Given the description of an element on the screen output the (x, y) to click on. 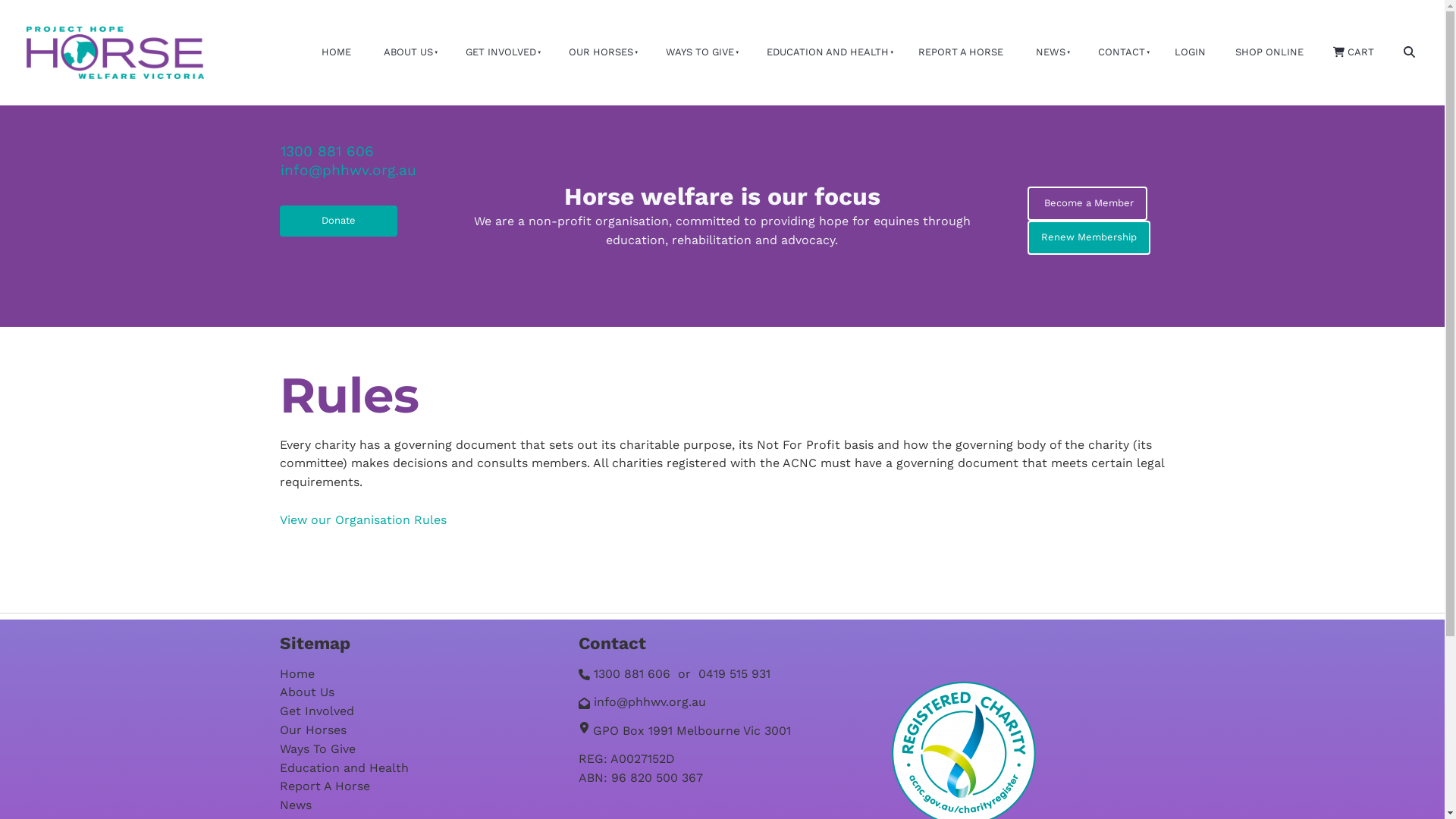
News Element type: text (294, 804)
GET INVOLVED Element type: text (498, 52)
1300 881 606  or  0419 515 931 Element type: text (681, 673)
ABOUT US Element type: text (406, 52)
Get Involved Element type: text (316, 710)
REPORT A HORSE Element type: text (960, 52)
info@phhwv.org.au Element type: text (649, 701)
HOME Element type: text (335, 52)
Home Element type: text (296, 673)
Report A Horse Element type: text (324, 785)
SHOP ONLINE Element type: text (1268, 52)
Education and Health Element type: text (343, 767)
CONTACT Element type: text (1119, 52)
Become a Member Element type: text (1087, 203)
EDUCATION AND HEALTH Element type: text (825, 52)
Our Horses Element type: text (312, 729)
About Us Element type: text (306, 691)
Renew Membership Element type: text (1088, 237)
Ways To Give Element type: text (316, 748)
CART Element type: text (1352, 52)
LOGIN Element type: text (1189, 52)
WAYS TO GIVE Element type: text (697, 52)
OUR HORSES Element type: text (598, 52)
1300 881 606
info@phhwv.org.au Element type: text (348, 160)
Donate Element type: text (337, 220)
NEWS Element type: text (1048, 52)
View our Organisation Rules  Element type: text (364, 519)
